Given the description of an element on the screen output the (x, y) to click on. 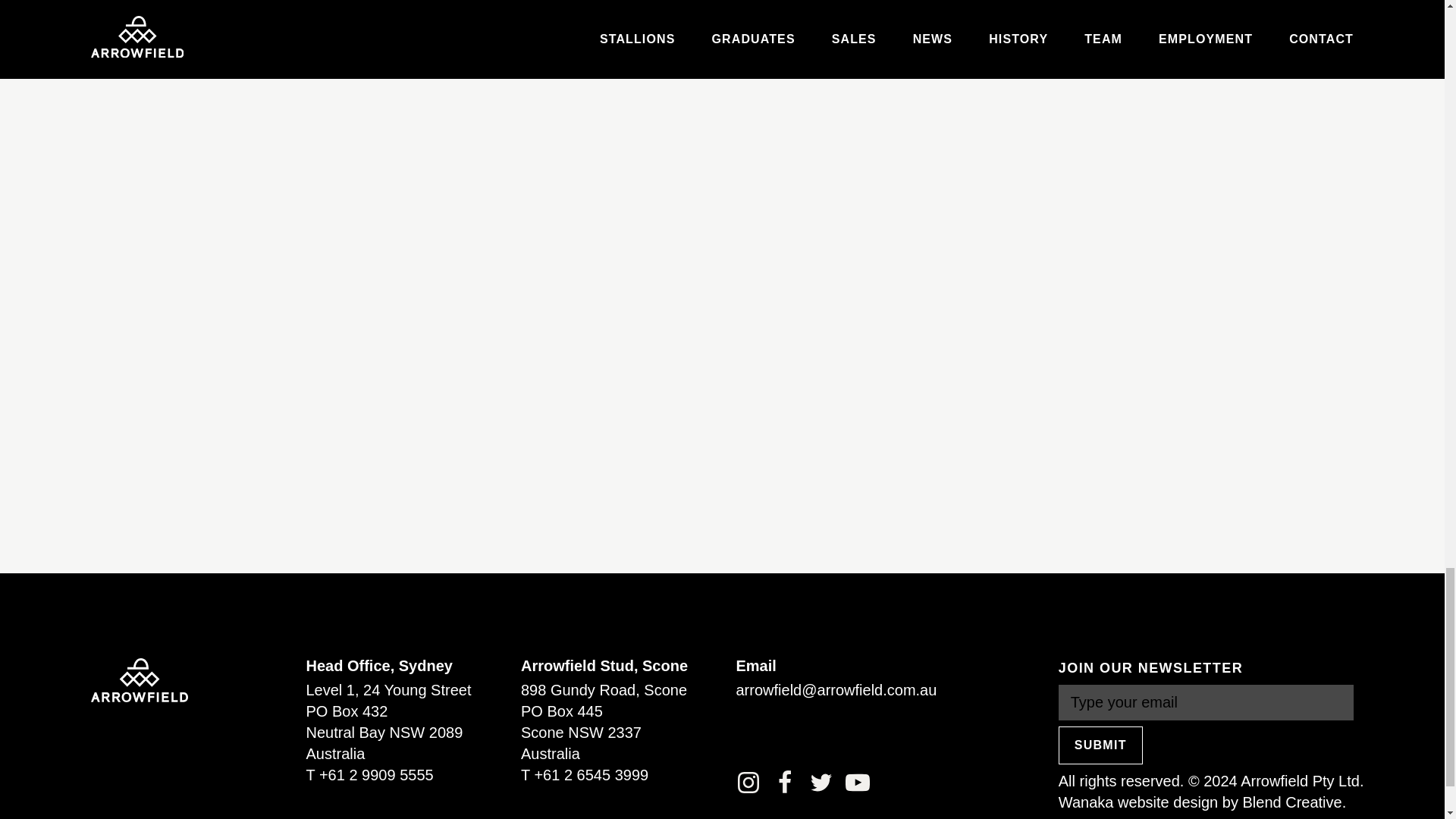
Wanaka website design by Blend Creative. (1201, 801)
SUBMIT (1100, 745)
Arrowfield (138, 679)
Arrowfield (138, 679)
Return to the homepage (138, 679)
